Given the description of an element on the screen output the (x, y) to click on. 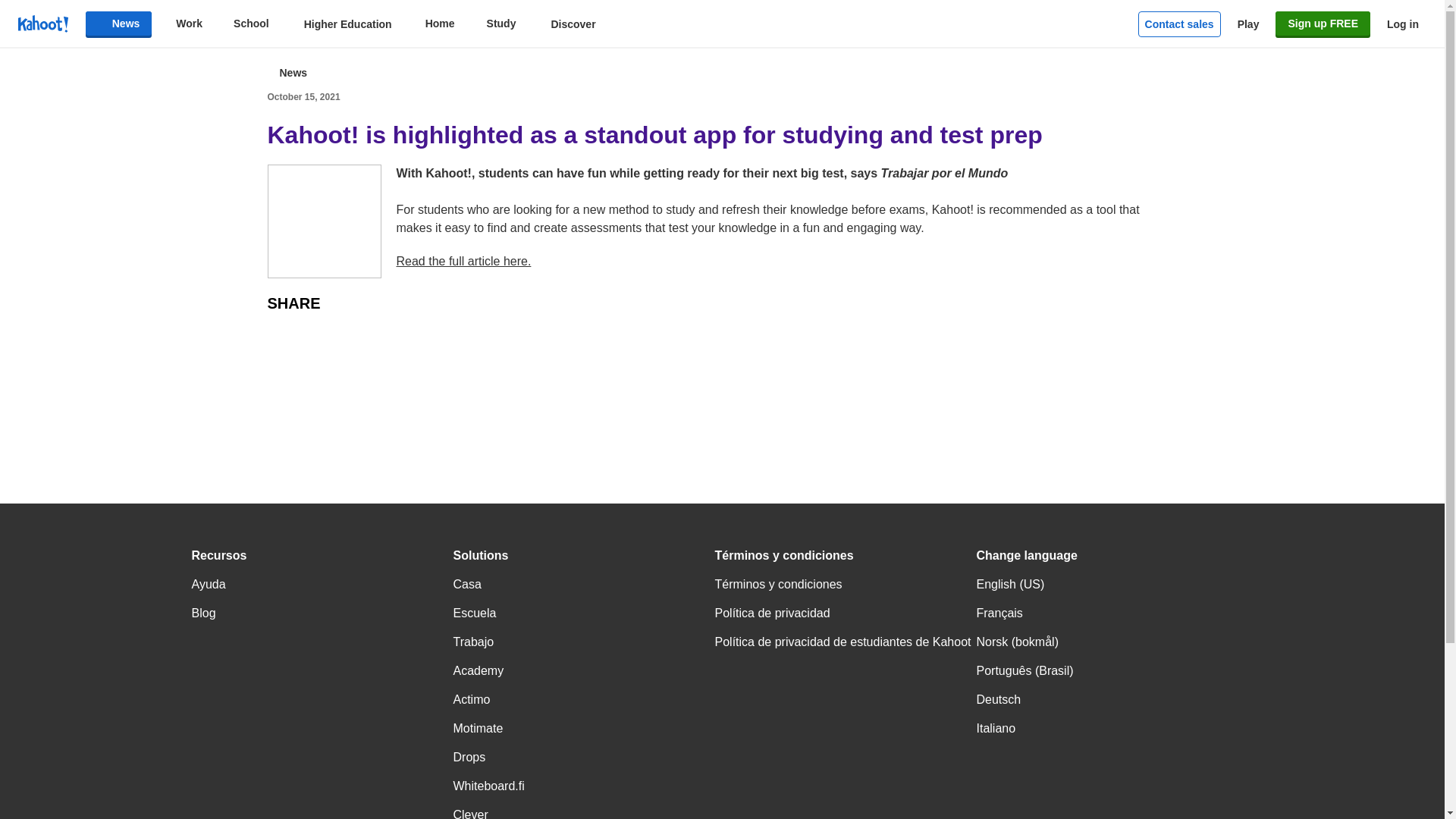
Work (181, 23)
Higher Education (337, 23)
News (118, 23)
Link to kahoot.com homepage (42, 24)
Play (1248, 24)
Contact sales (1179, 23)
Log in (1402, 24)
School (243, 23)
Sign up FREE (1322, 23)
